Given the description of an element on the screen output the (x, y) to click on. 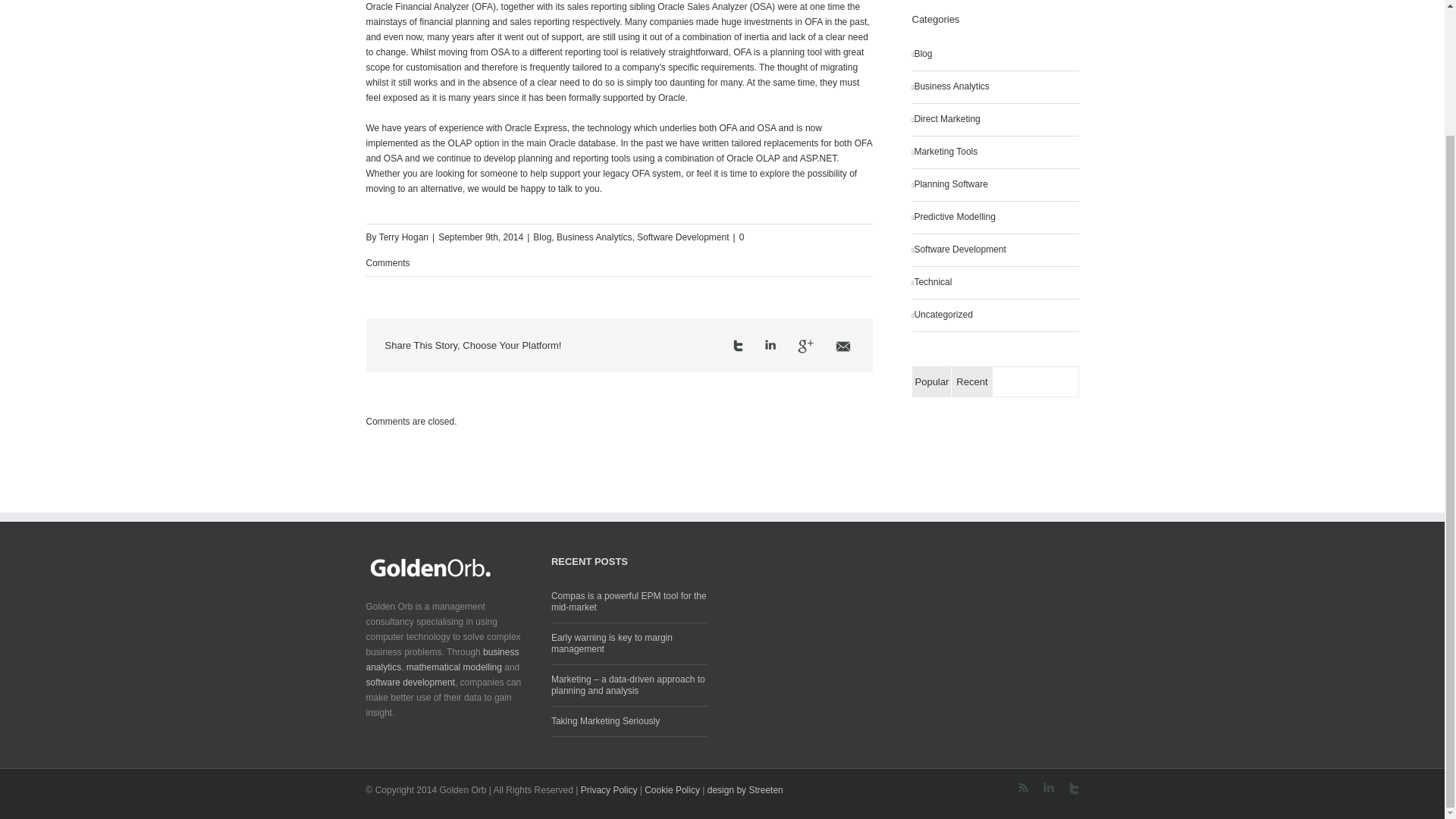
Blog (541, 236)
Our business analytics practice area (441, 659)
mathematical modelling (454, 666)
Software development practice area (409, 682)
Posts by Terry Hogan (403, 236)
Blog entries (994, 54)
Our software development practice (994, 250)
Terry Hogan (403, 236)
